Given the description of an element on the screen output the (x, y) to click on. 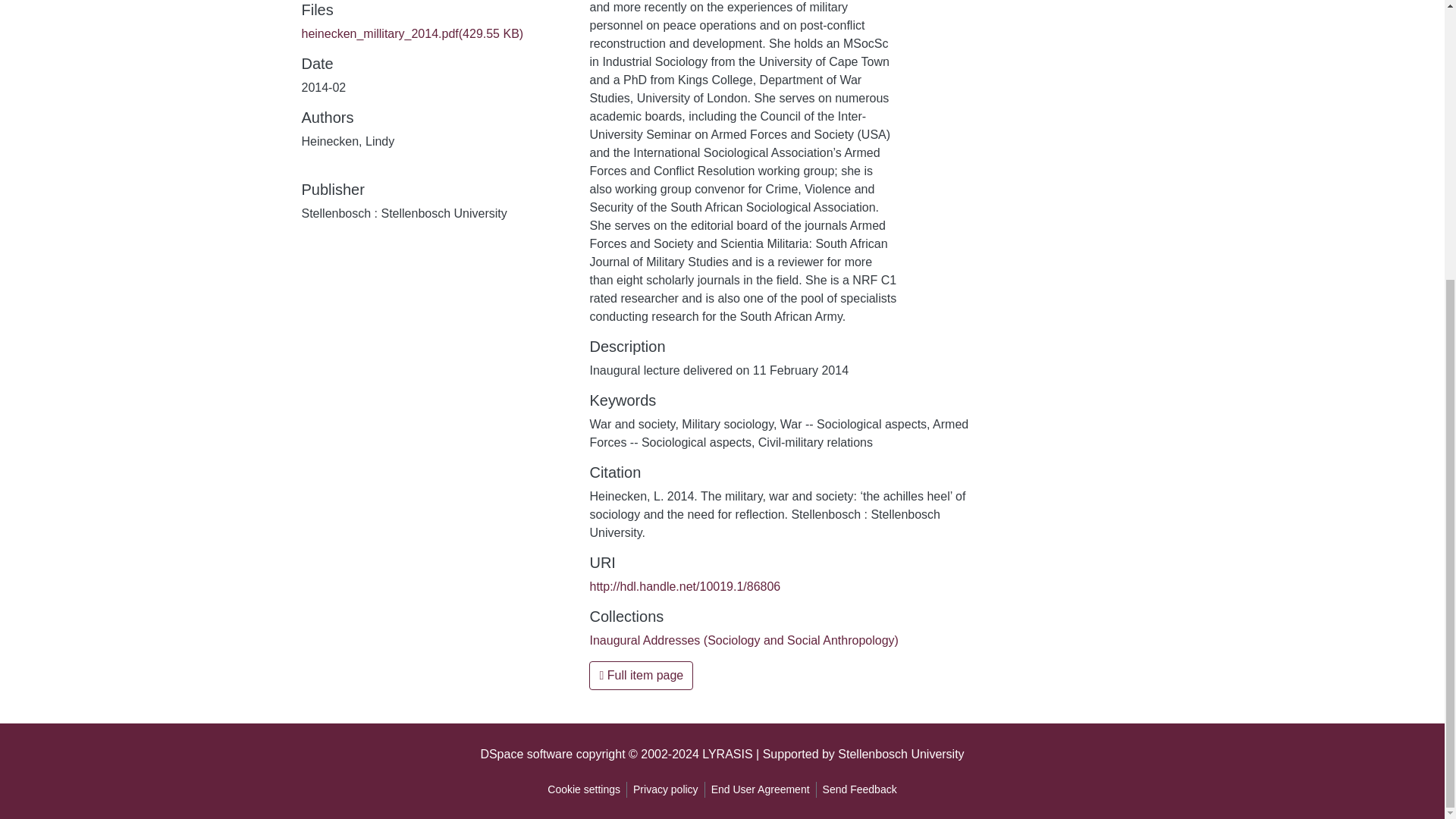
DSpace software (526, 753)
Privacy policy (665, 789)
LYRASIS (726, 753)
Stellenbosch University (900, 753)
End User Agreement (759, 789)
Cookie settings (583, 789)
Send Feedback (859, 789)
Full item page (641, 675)
